Given the description of an element on the screen output the (x, y) to click on. 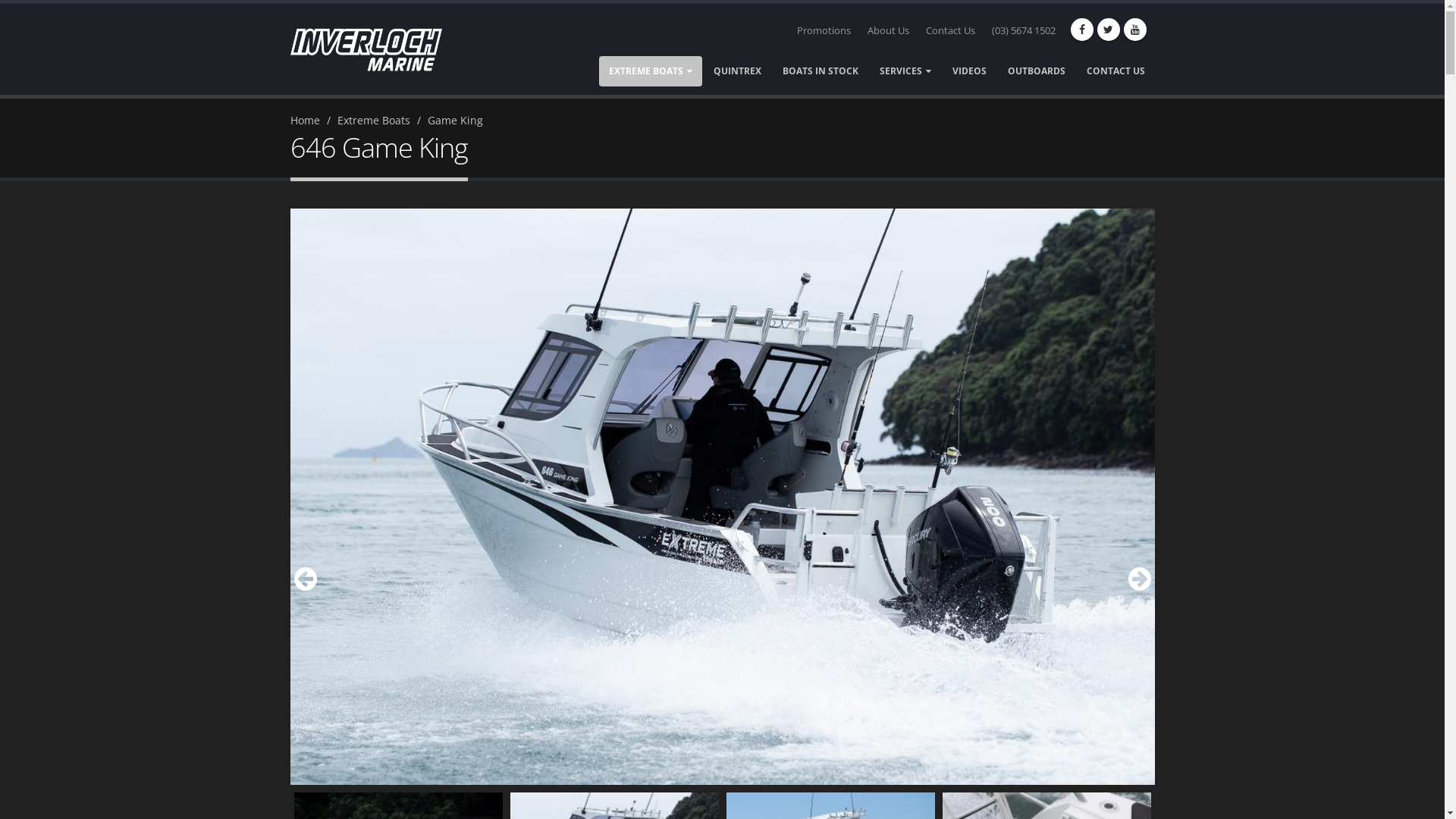
EXTREME BOATS Element type: text (650, 71)
Contact Us Element type: text (949, 30)
OUTBOARDS Element type: text (1036, 71)
(03) 5674 1502 Element type: text (1023, 30)
Game King Element type: text (455, 119)
Extreme Boats Element type: text (372, 119)
SERVICES Element type: text (904, 71)
Promotions Element type: text (822, 30)
Youtube Element type: hover (1134, 29)
BOATS IN STOCK Element type: text (819, 71)
CONTACT US Element type: text (1115, 71)
About Us Element type: text (887, 30)
Home Element type: text (304, 119)
Facebook Element type: hover (1081, 29)
Home Element type: hover (374, 47)
QUINTREX Element type: text (737, 71)
VIDEOS Element type: text (968, 71)
Twitter Element type: hover (1107, 29)
